Given the description of an element on the screen output the (x, y) to click on. 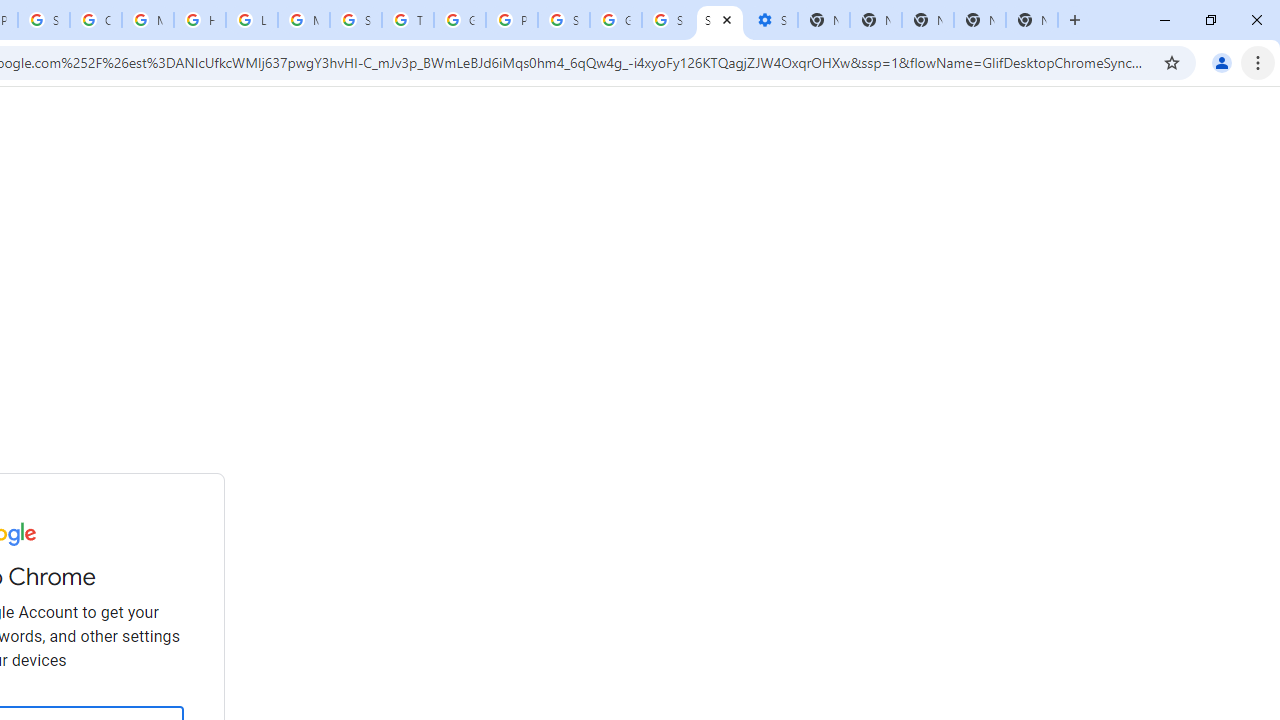
Sign in - Google Accounts (667, 20)
Sign in - Google Accounts (563, 20)
Sign in - Google Accounts (43, 20)
Search our Doodle Library Collection - Google Doodles (355, 20)
